Given the description of an element on the screen output the (x, y) to click on. 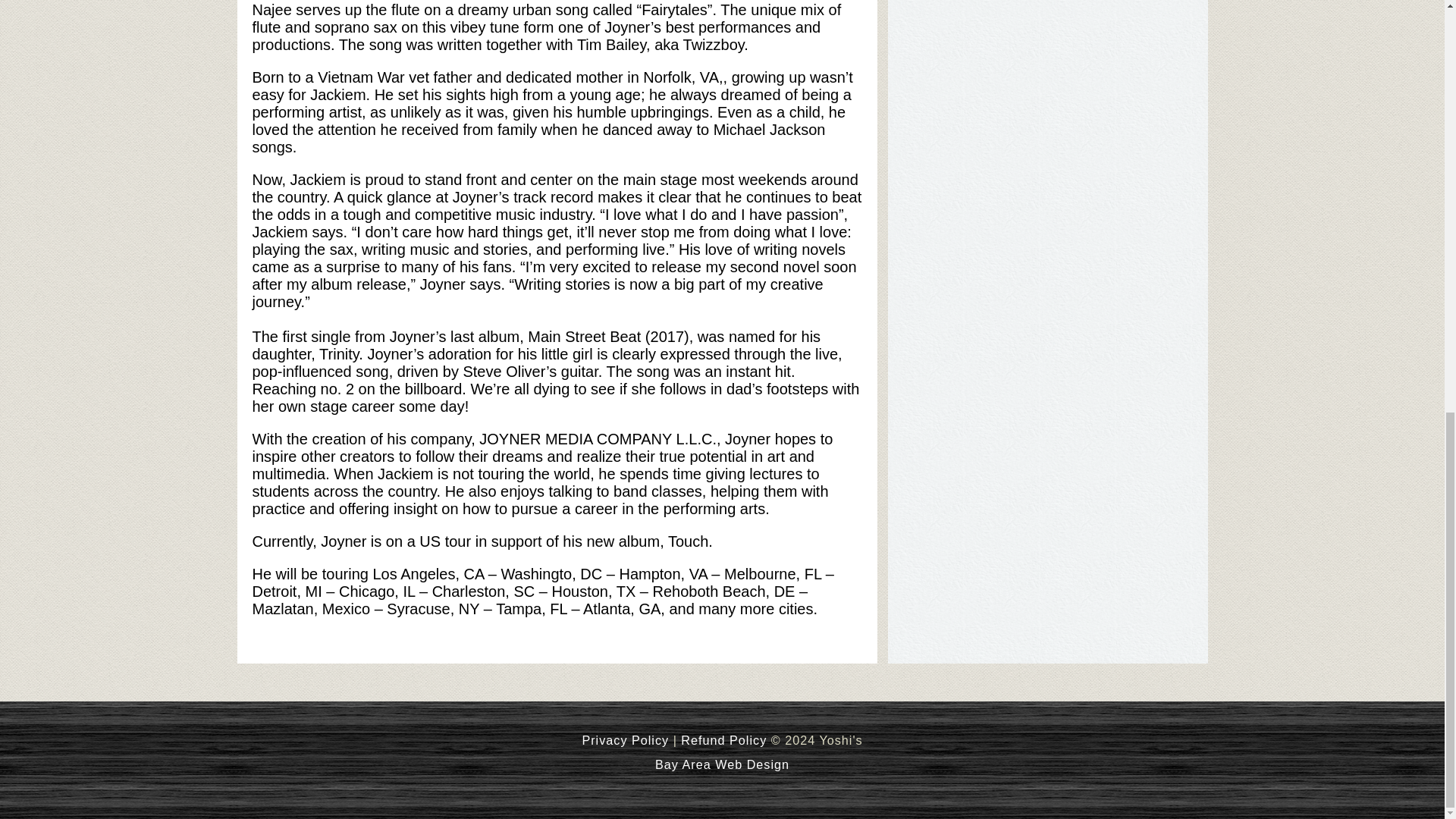
Privacy Policy (624, 739)
Bay Area Web Design (722, 764)
Refund Policy (724, 739)
